Given the description of an element on the screen output the (x, y) to click on. 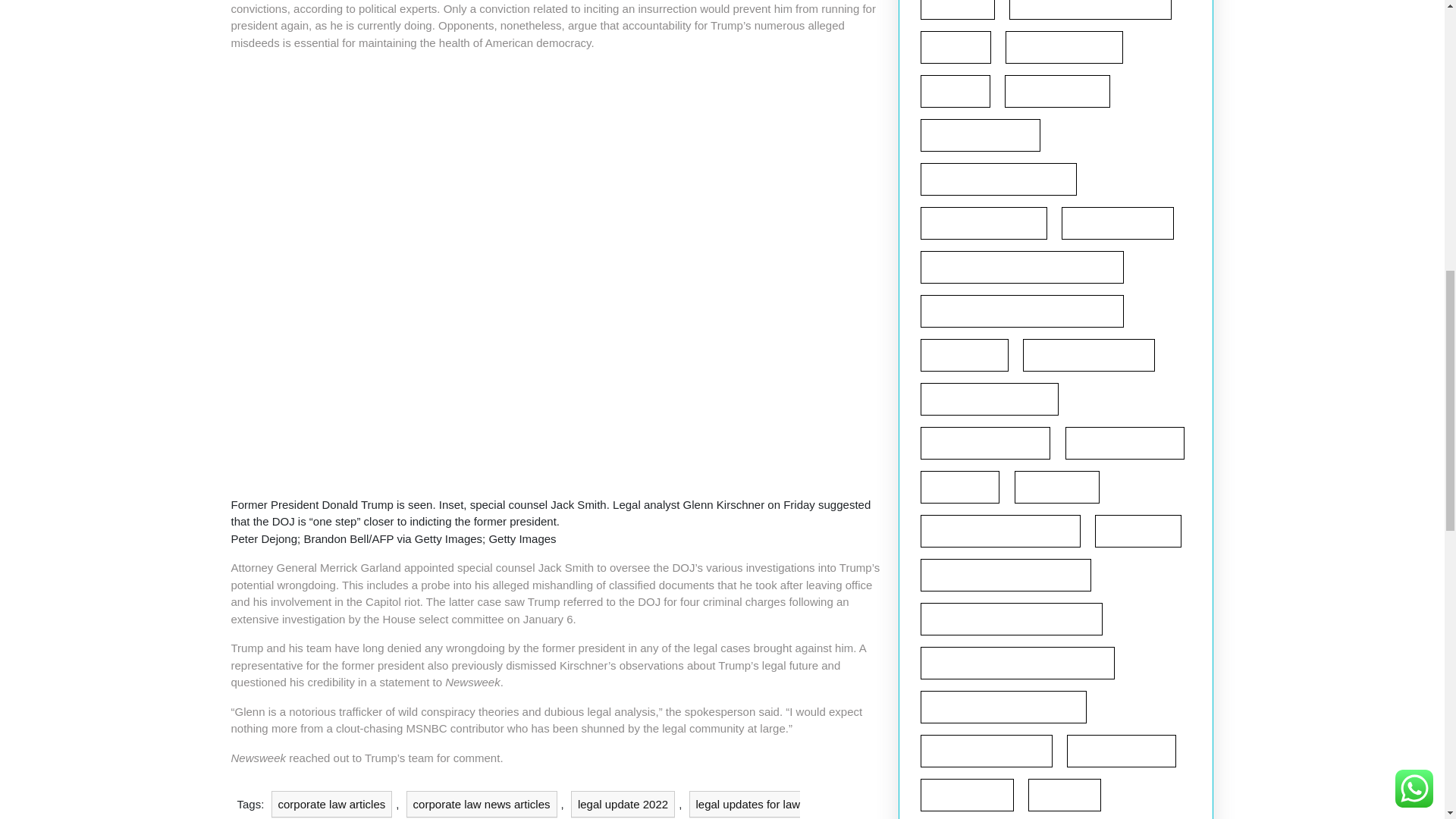
corporate law news (980, 134)
corporate legal news (983, 223)
case law (955, 91)
attorney's (957, 9)
legal update 2022 (622, 804)
corporate law articles (331, 804)
best website to find a lawyer (1090, 9)
business (955, 47)
corporate law news articles (481, 804)
case law search (1056, 91)
legal updates for law enforcement (517, 805)
business law news (1064, 47)
corporate law news articles (998, 178)
